Given the description of an element on the screen output the (x, y) to click on. 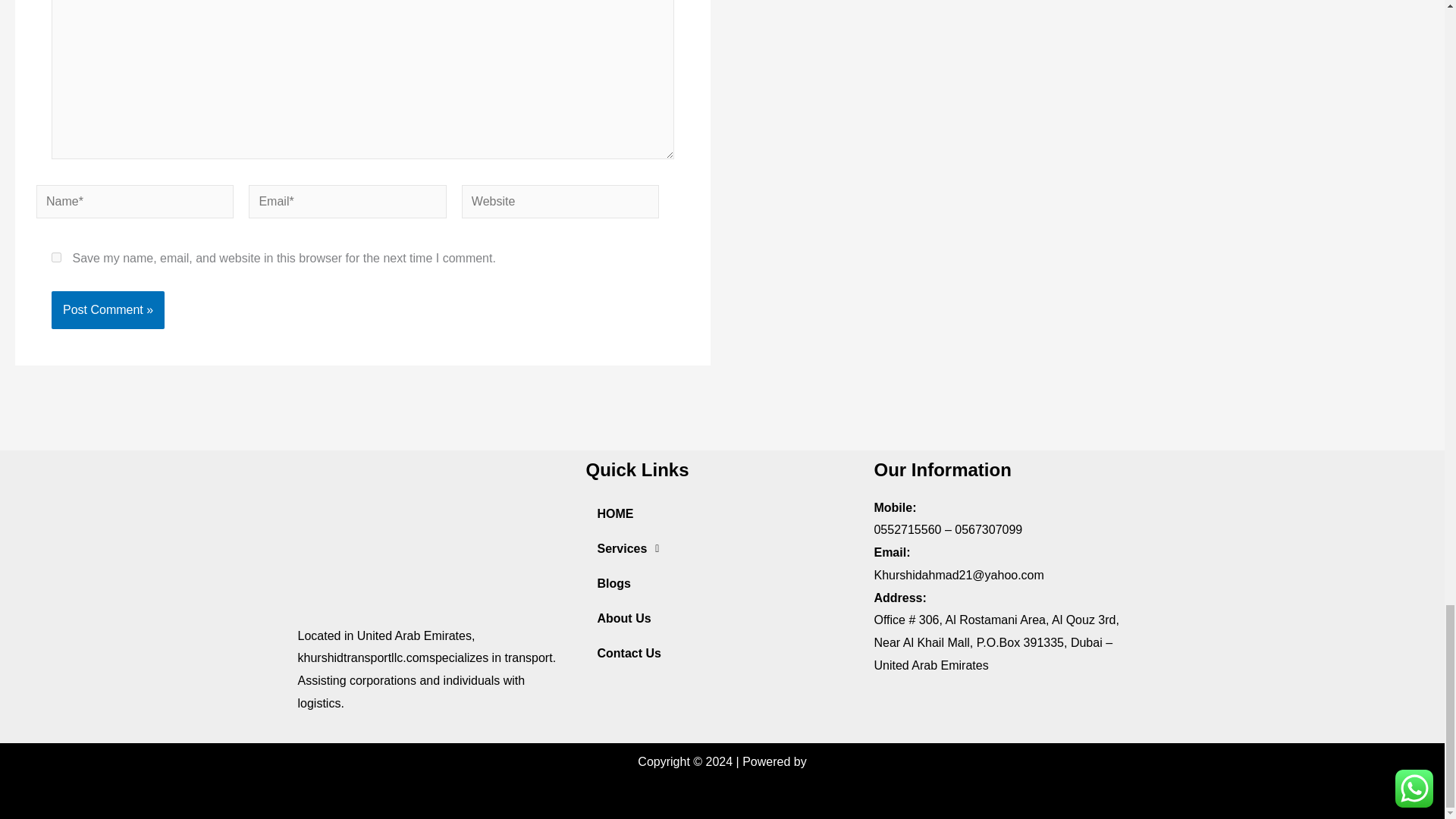
yes (55, 257)
